Given the description of an element on the screen output the (x, y) to click on. 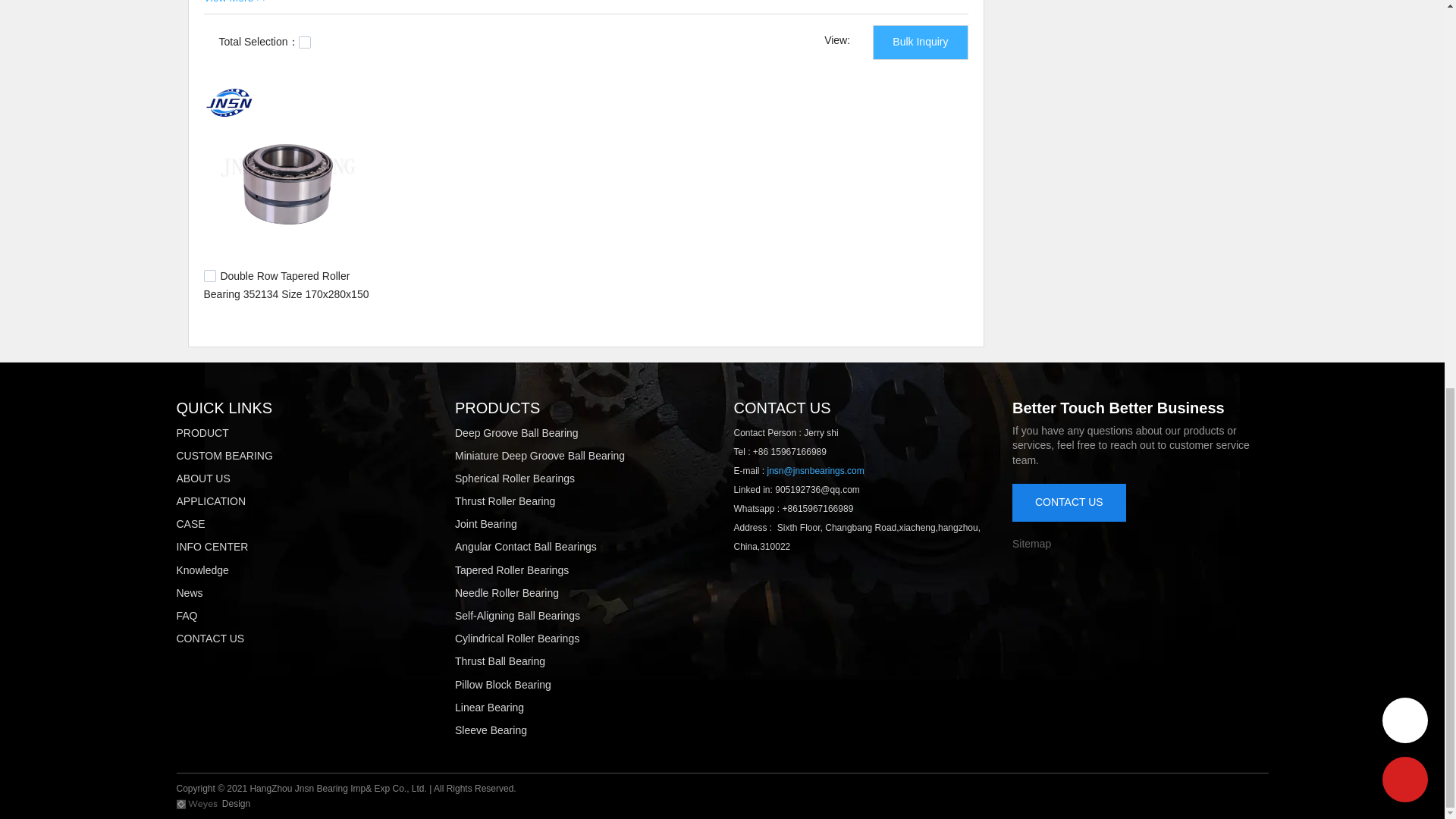
on (304, 42)
Double Row Tapered Roller Bearing 352134 Size 170x280x150 mm (285, 292)
25316 (209, 275)
